Given the description of an element on the screen output the (x, y) to click on. 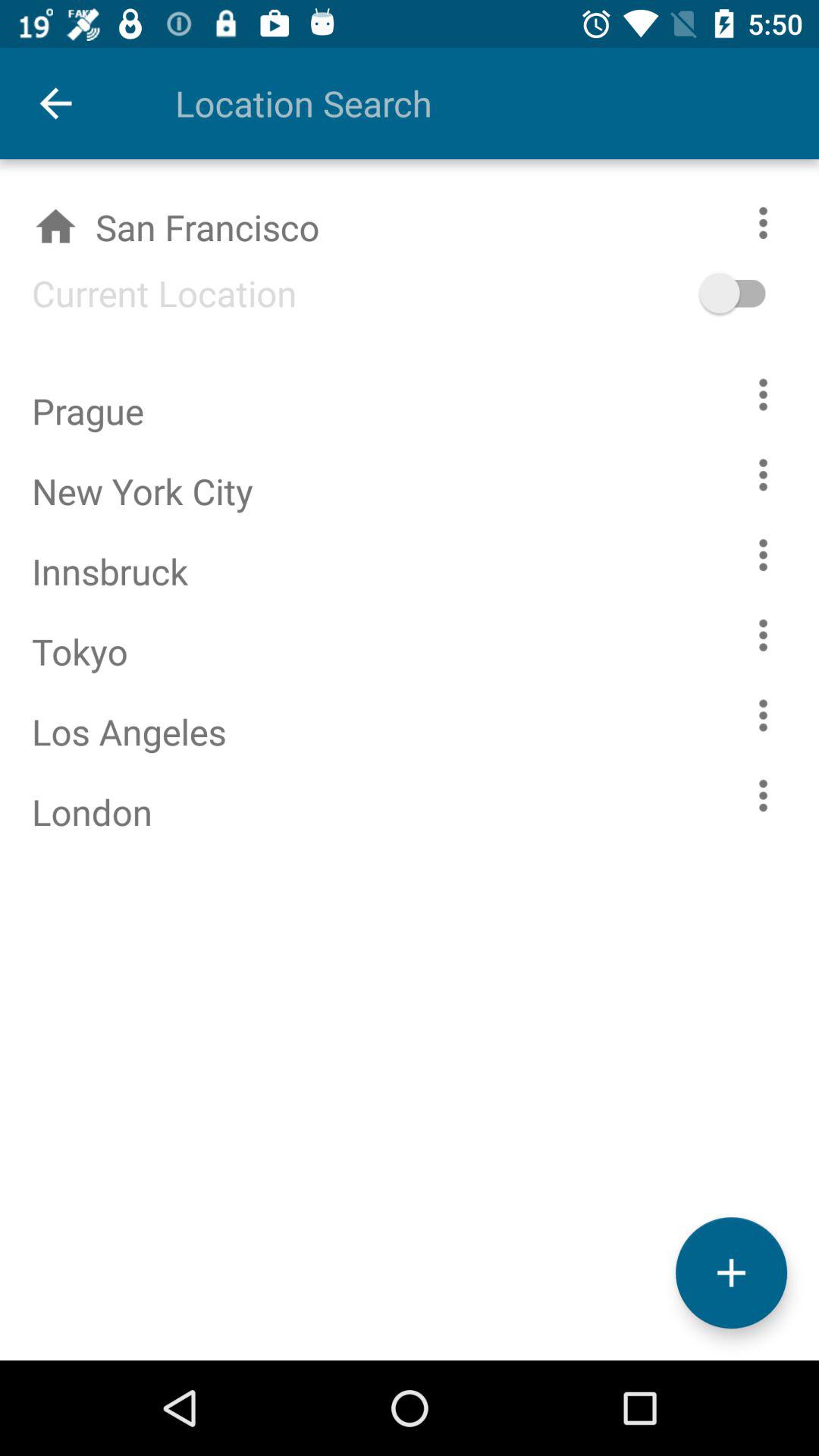
shows index of subject while flashung yellow (763, 795)
